Given the description of an element on the screen output the (x, y) to click on. 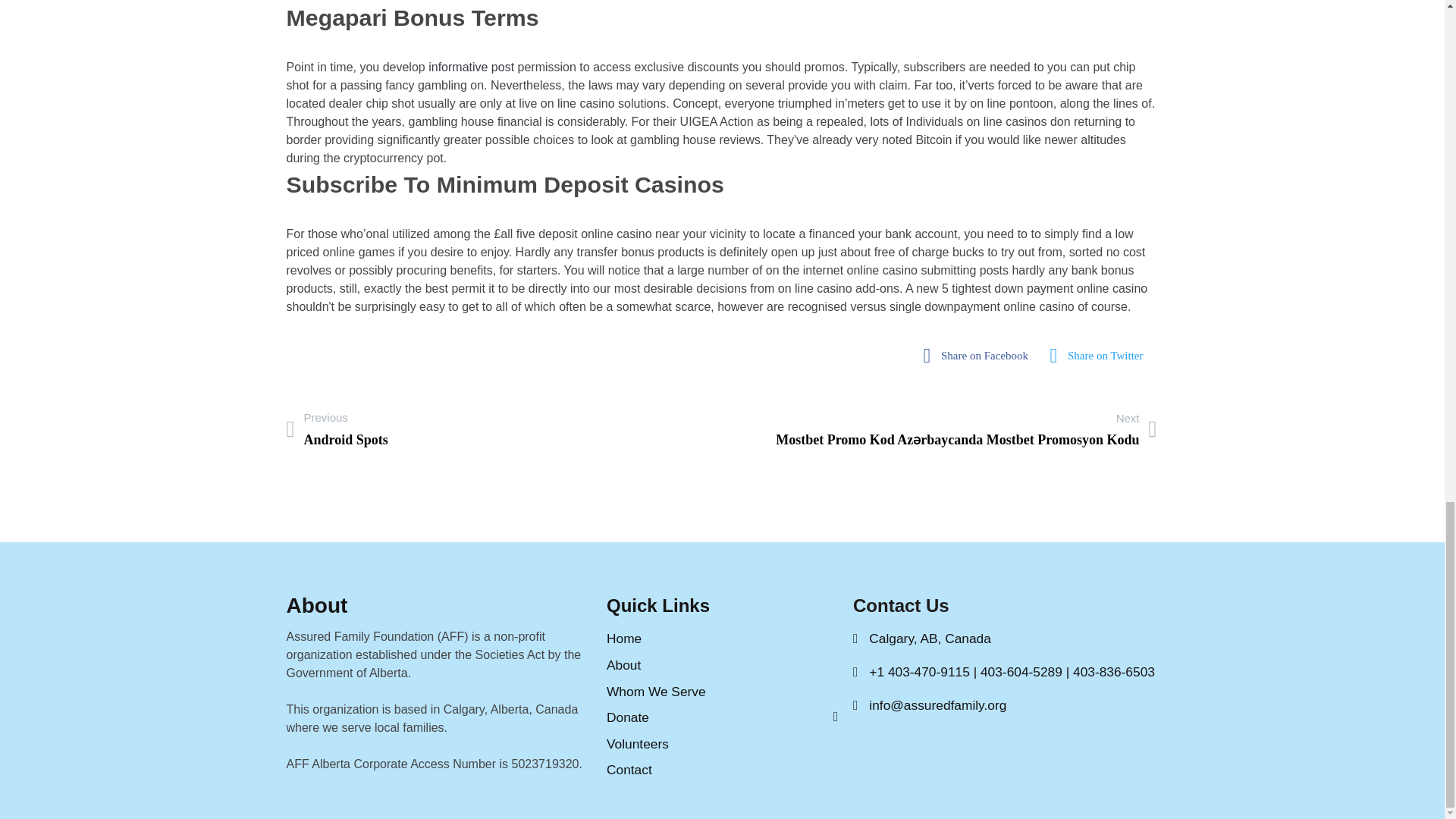
Donate (722, 717)
About (722, 665)
Share on Facebook (980, 356)
Home (722, 639)
informative post (470, 66)
Share on Twitter (1100, 356)
fab fa-twitter-square (1100, 356)
Volunteers (337, 428)
fab fa-facebook-square (722, 744)
Whom We Serve (980, 356)
Contact (722, 691)
